Given the description of an element on the screen output the (x, y) to click on. 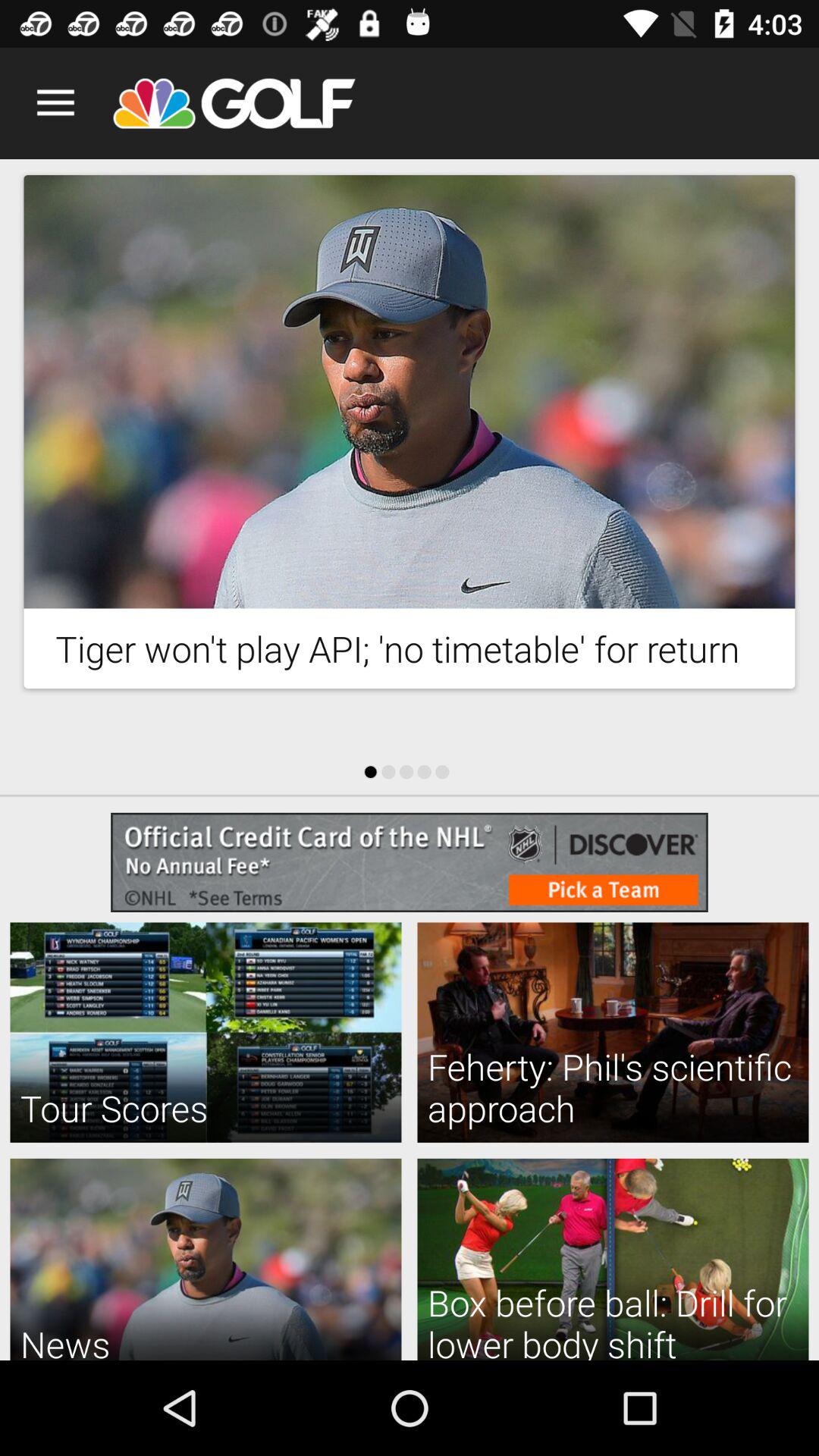
open advertisement (409, 862)
